Given the description of an element on the screen output the (x, y) to click on. 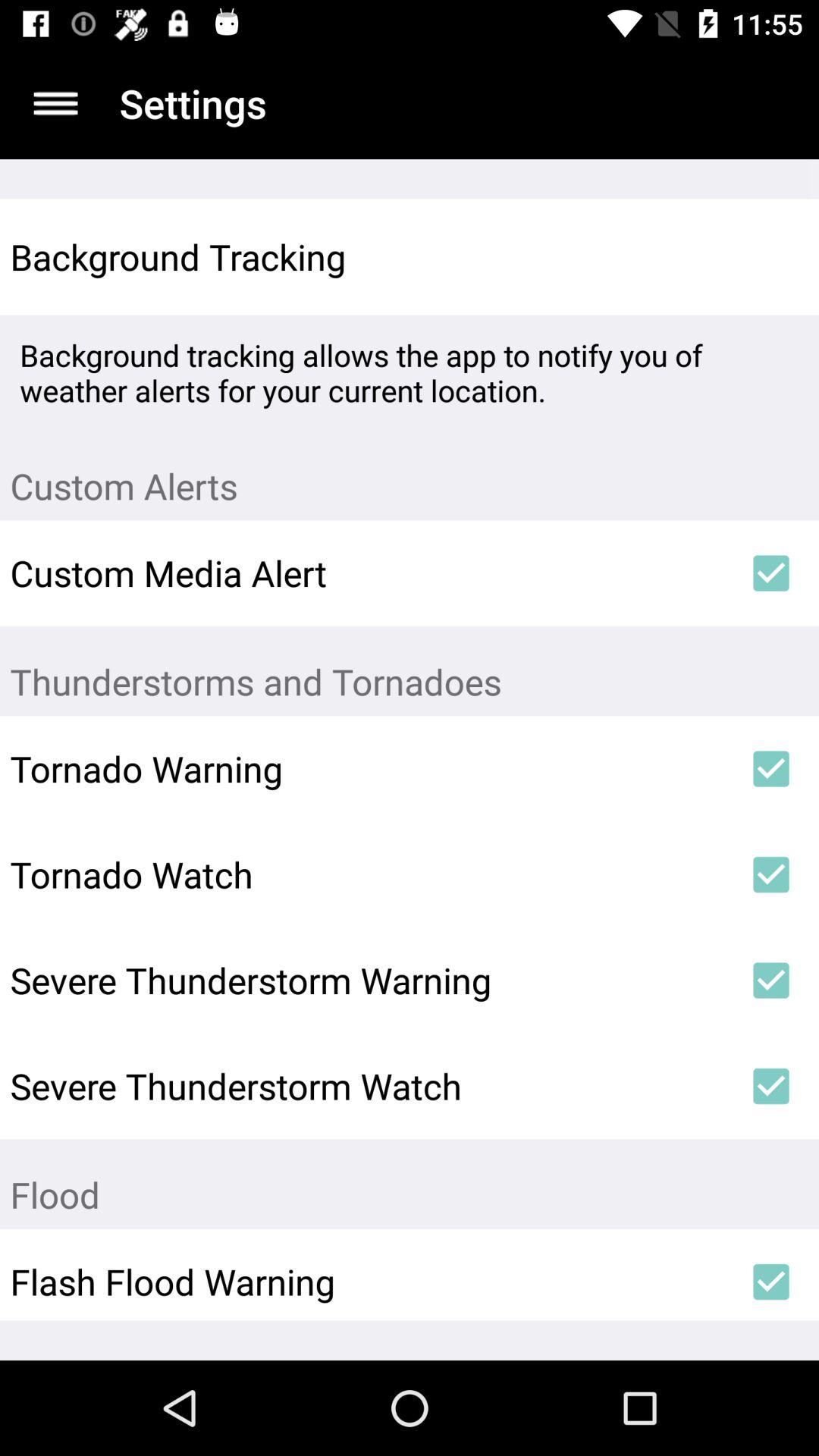
jump until the flash flood warning icon (366, 1281)
